Given the description of an element on the screen output the (x, y) to click on. 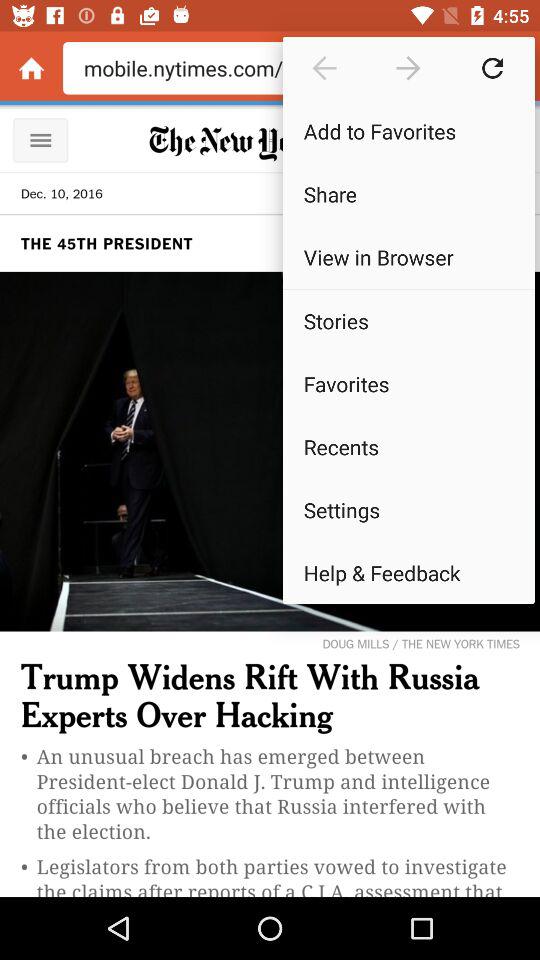
open the view in browser item (408, 256)
